Given the description of an element on the screen output the (x, y) to click on. 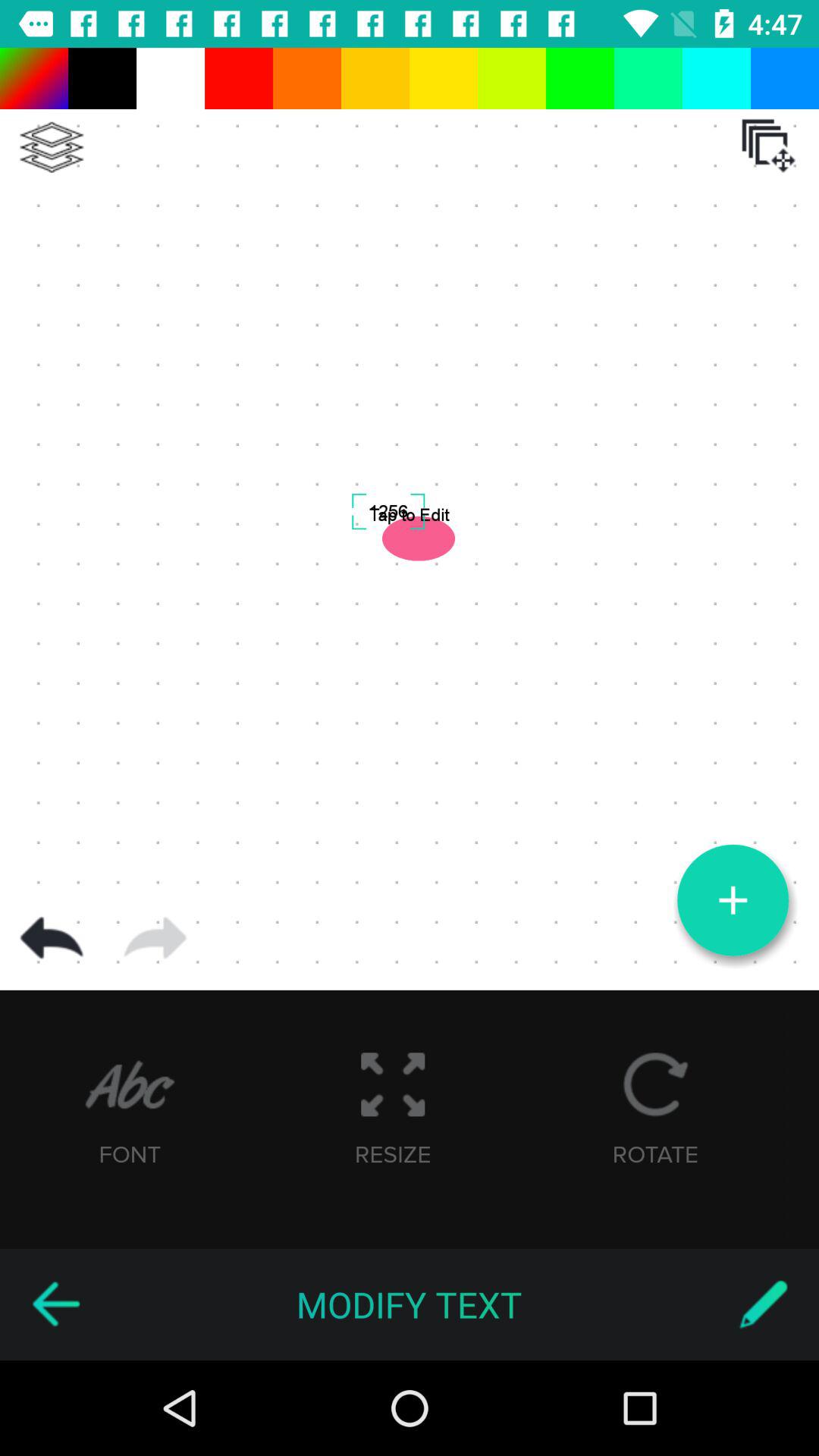
toggle layers (51, 147)
